Given the description of an element on the screen output the (x, y) to click on. 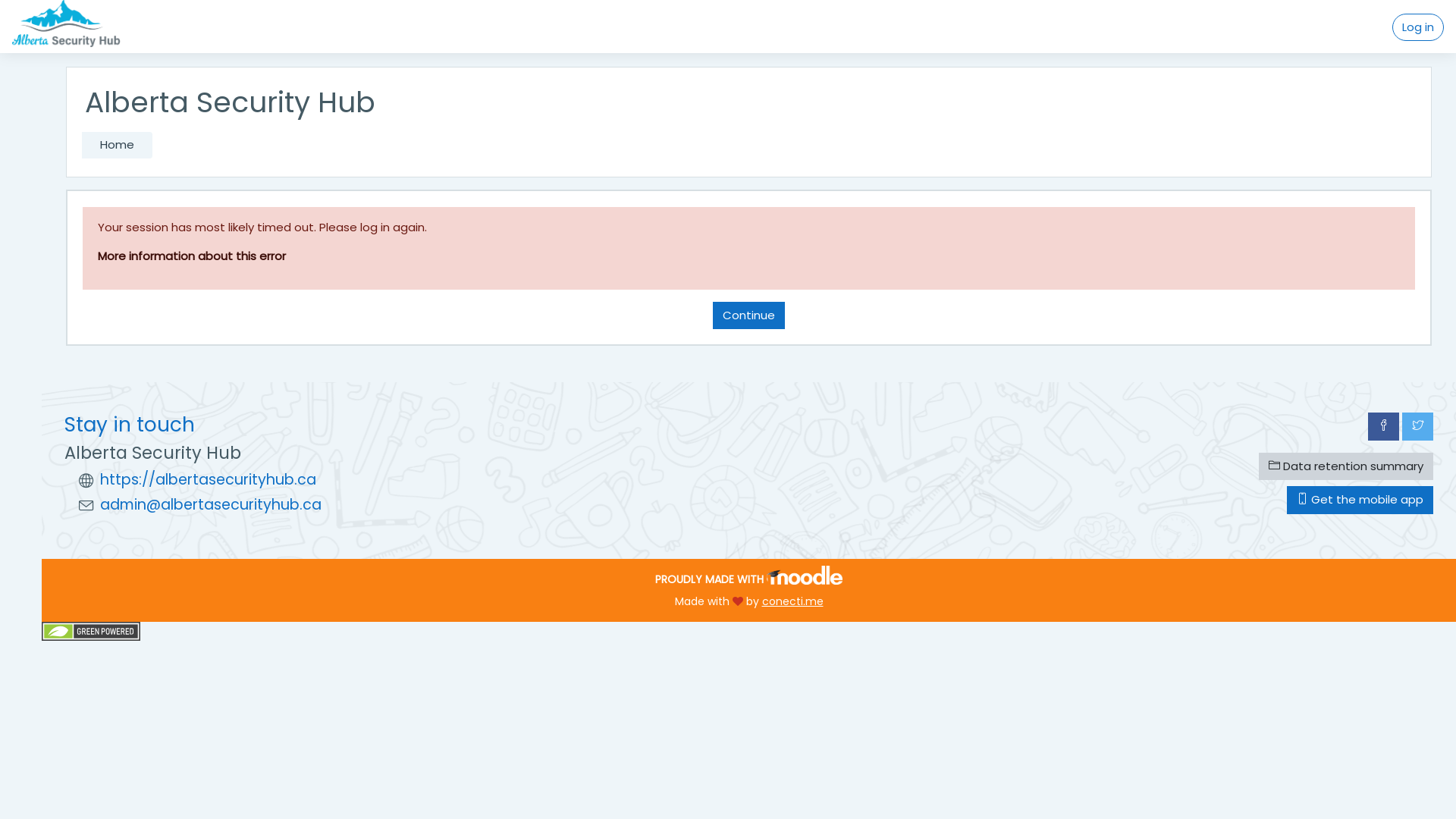
Home Element type: text (116, 144)
Get the mobile app Element type: text (1359, 500)
admin@albertasecurityhub.ca Element type: text (210, 505)
More information about this error Element type: text (191, 255)
Log in Element type: text (1417, 27)
Continue Element type: text (748, 315)
Data retention summary Element type: text (1345, 465)
conecti.me Element type: text (791, 600)
https://albertasecurityhub.ca Element type: text (208, 480)
